Given the description of an element on the screen output the (x, y) to click on. 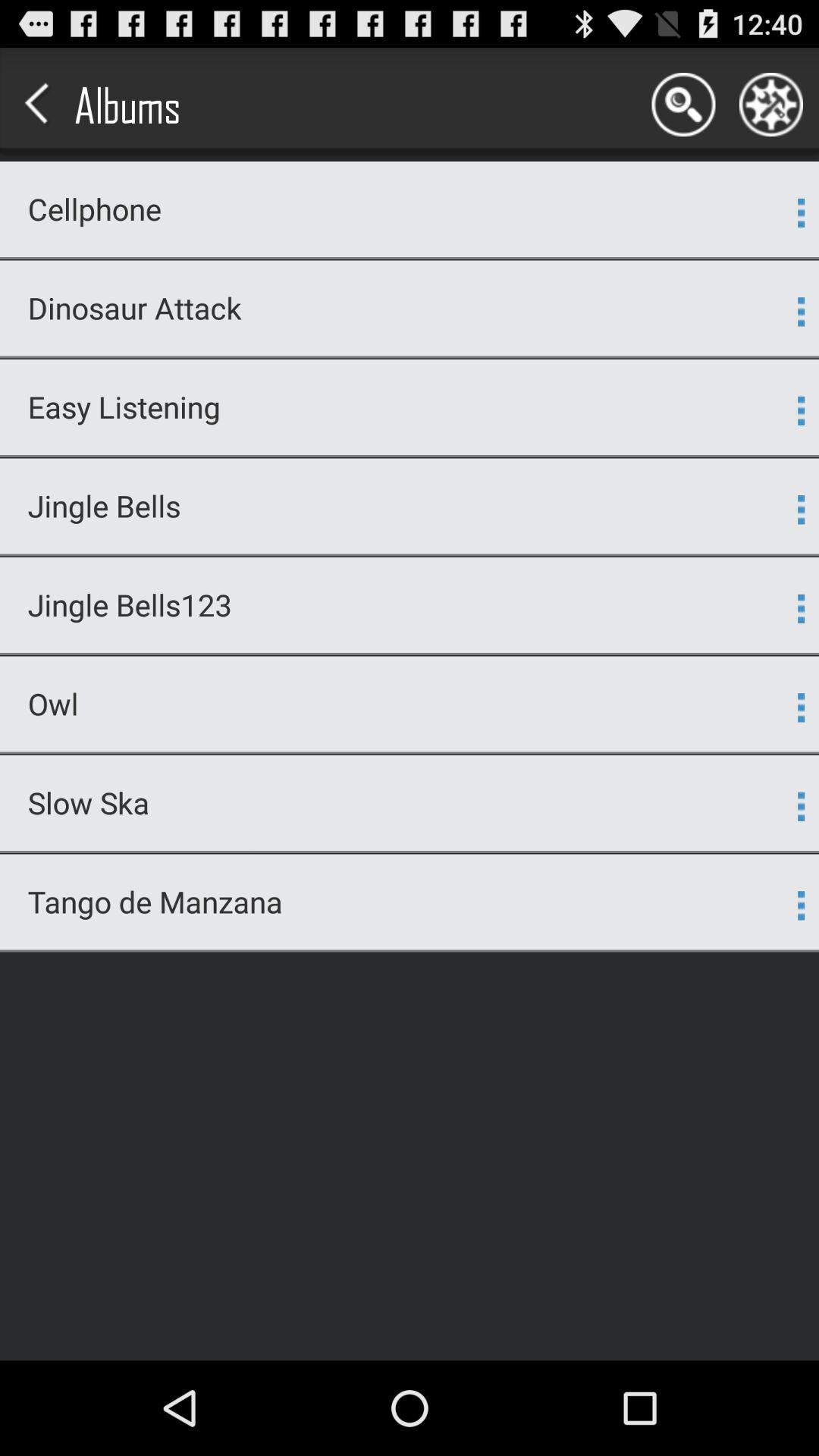
turn off the item below the owl (409, 752)
